Given the description of an element on the screen output the (x, y) to click on. 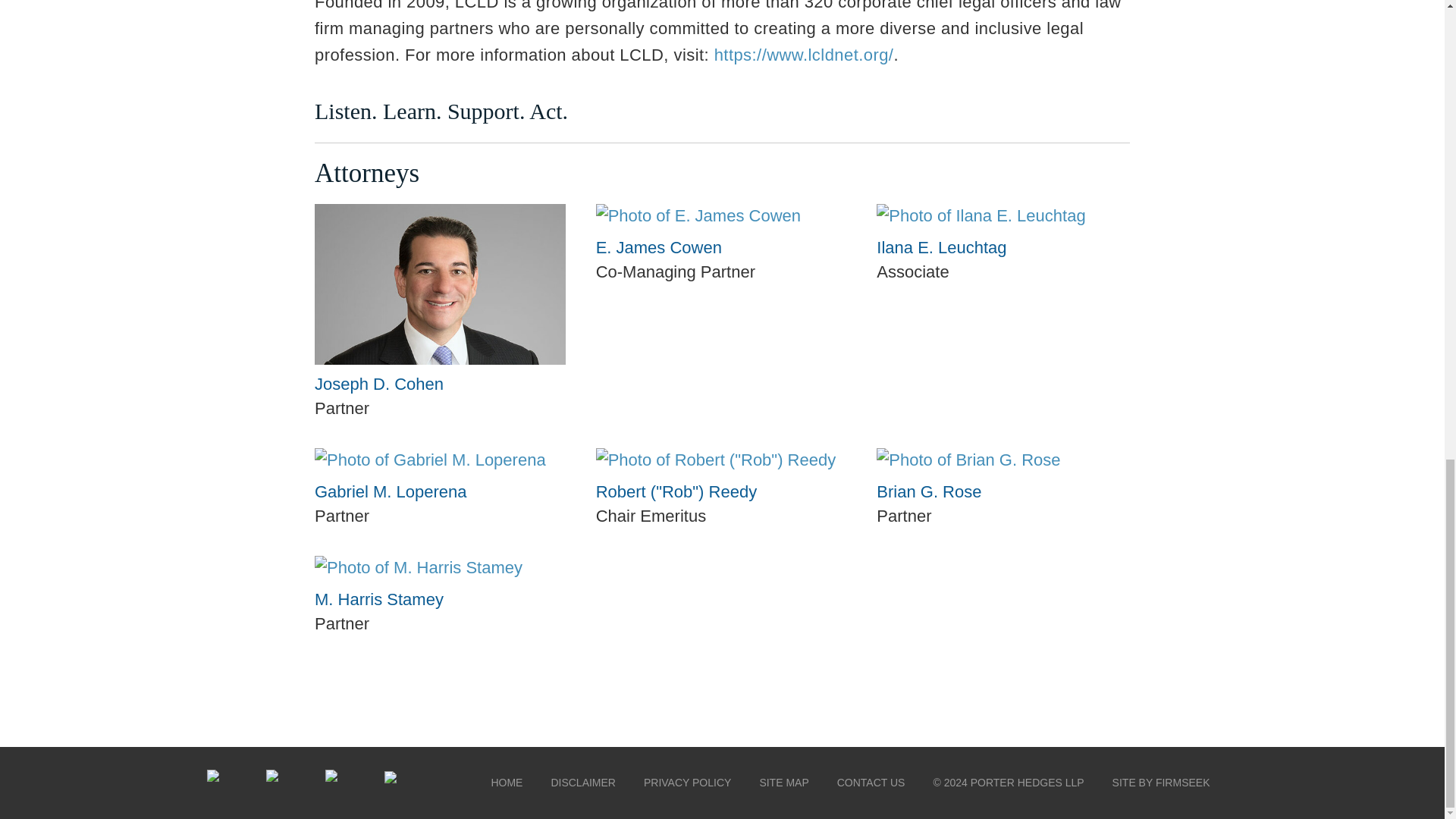
Share (216, 780)
